Given the description of an element on the screen output the (x, y) to click on. 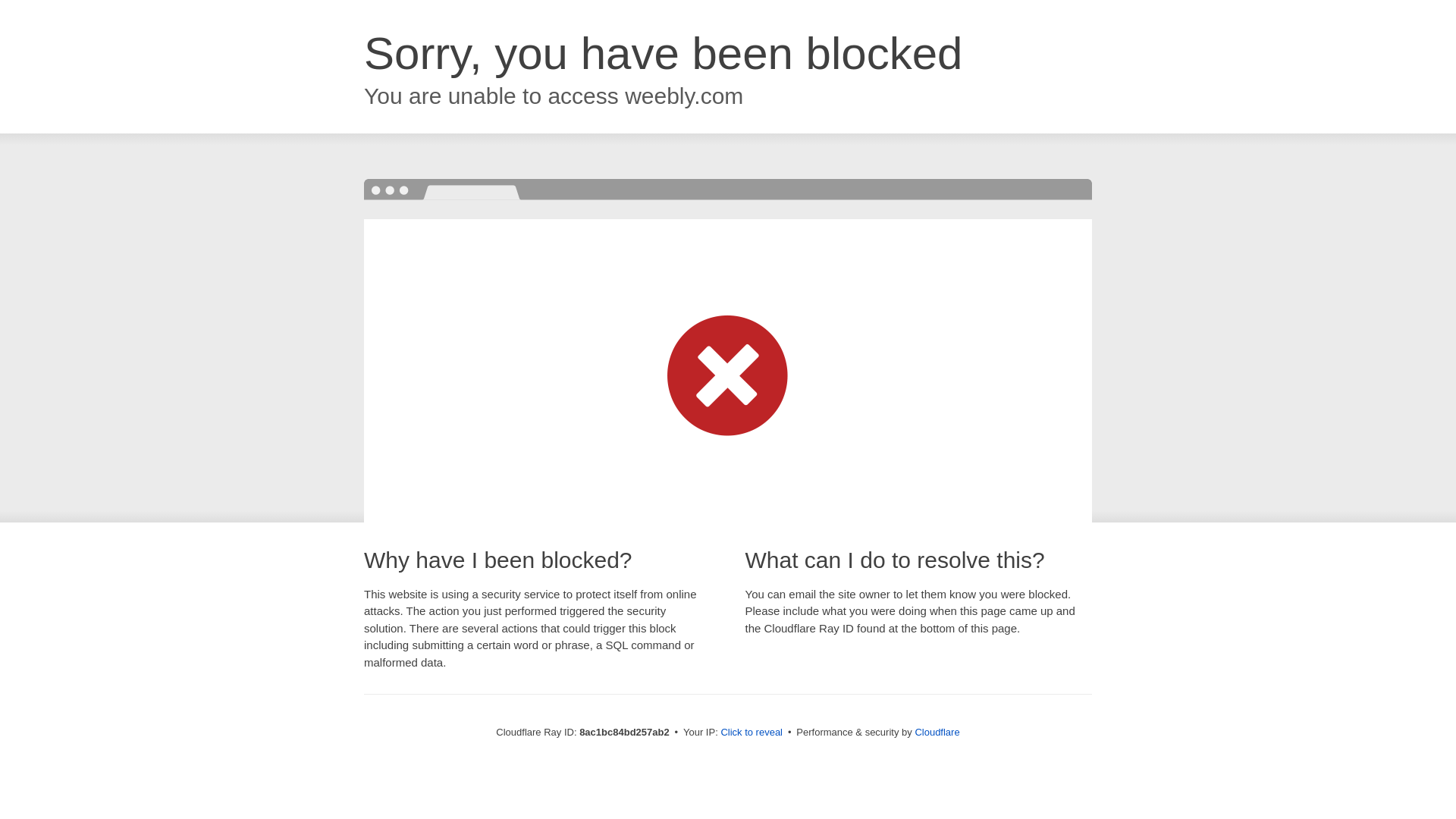
Cloudflare (936, 731)
Click to reveal (751, 732)
